Given the description of an element on the screen output the (x, y) to click on. 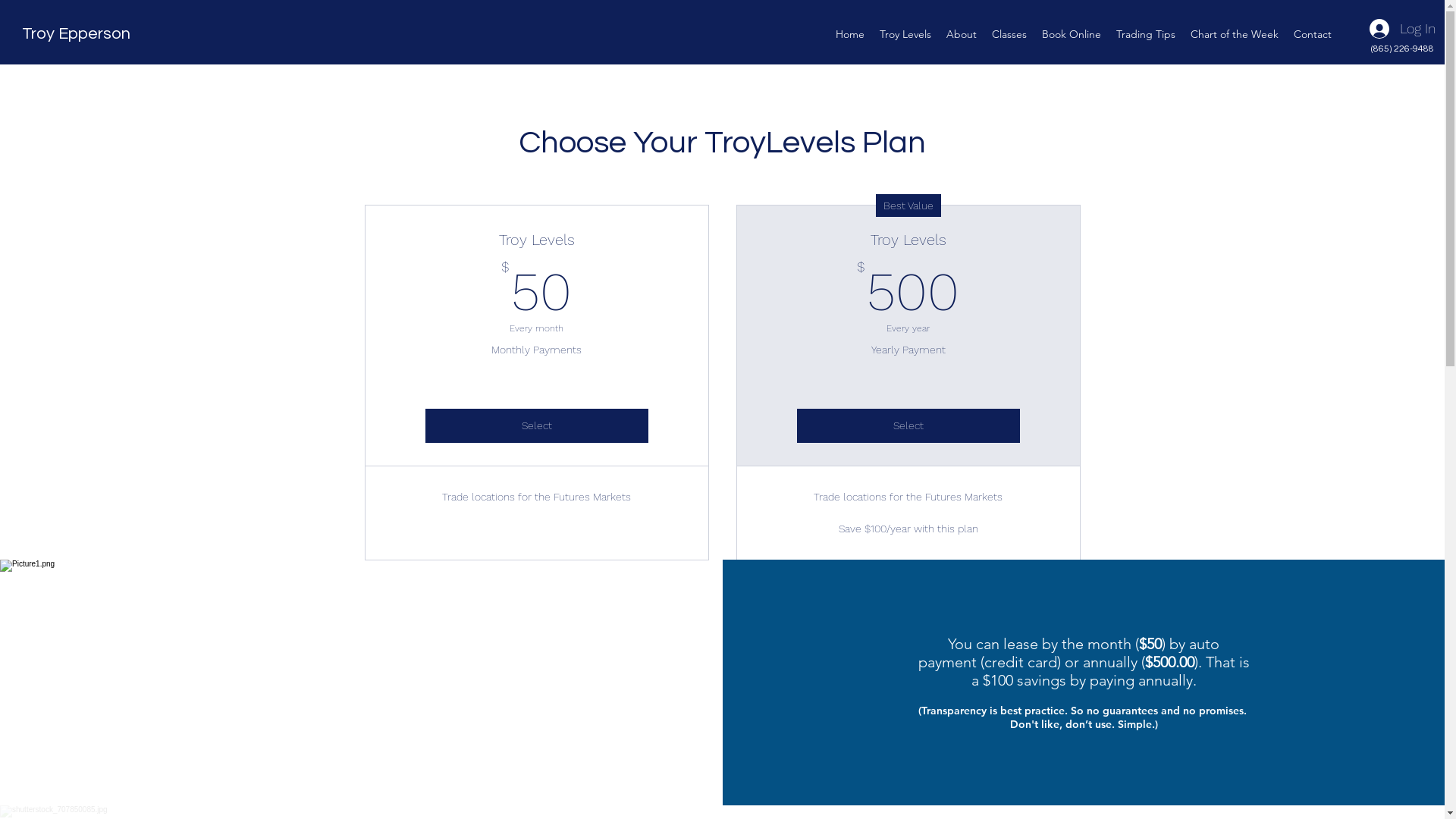
Troy Levels Element type: text (905, 33)
Home Element type: text (850, 33)
Contact Element type: text (1312, 33)
Chart of the Week Element type: text (1234, 33)
Book Online Element type: text (1071, 33)
(865) 226-9488 Element type: text (1402, 48)
Troy Epperson Element type: text (75, 33)
Select Element type: text (907, 425)
Trading Tips Element type: text (1145, 33)
About Element type: text (961, 33)
Log In Element type: text (1402, 28)
Select Element type: text (535, 425)
Classes Element type: text (1009, 33)
